Given the description of an element on the screen output the (x, y) to click on. 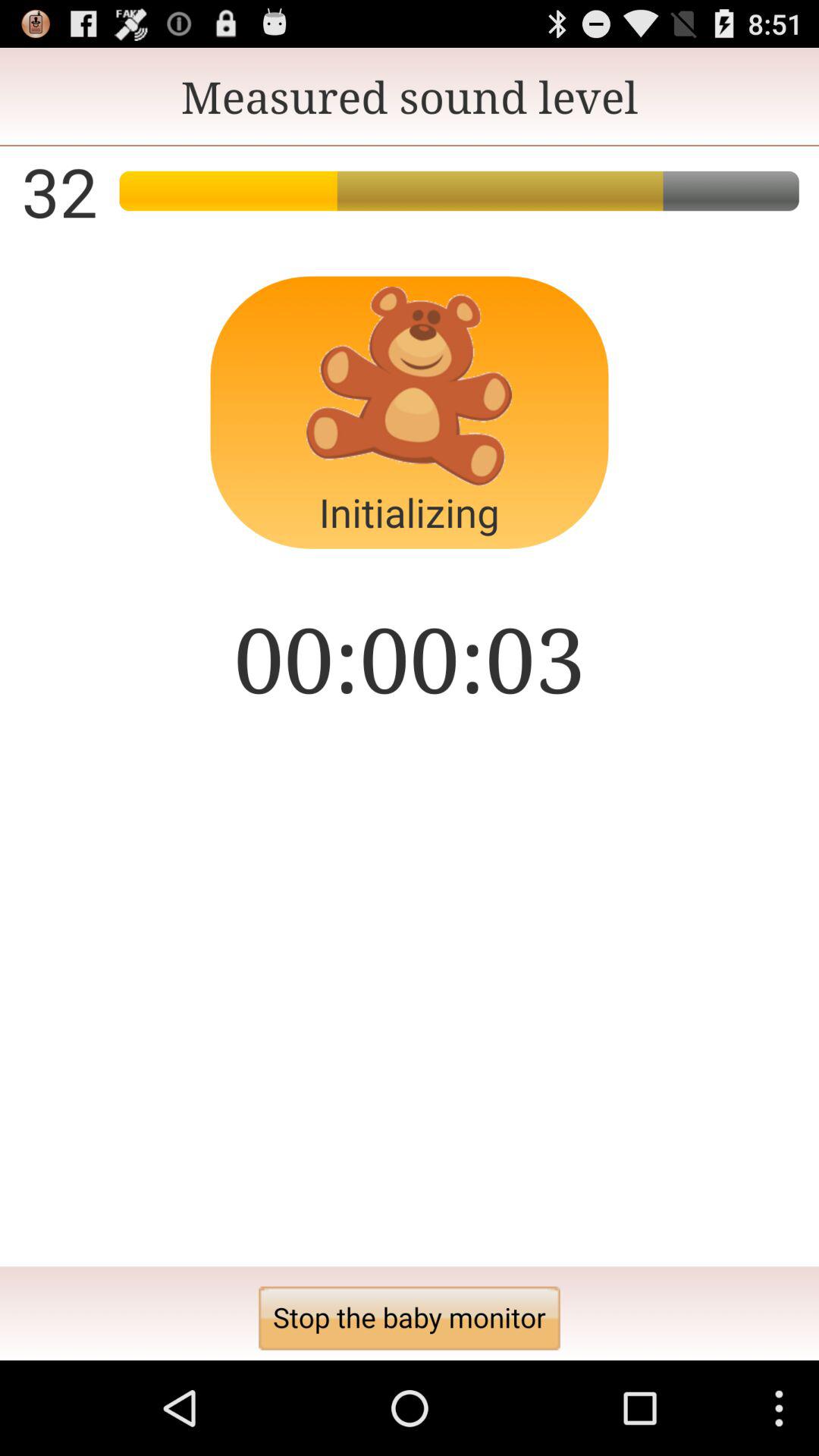
jump until the stop the baby button (409, 1318)
